Given the description of an element on the screen output the (x, y) to click on. 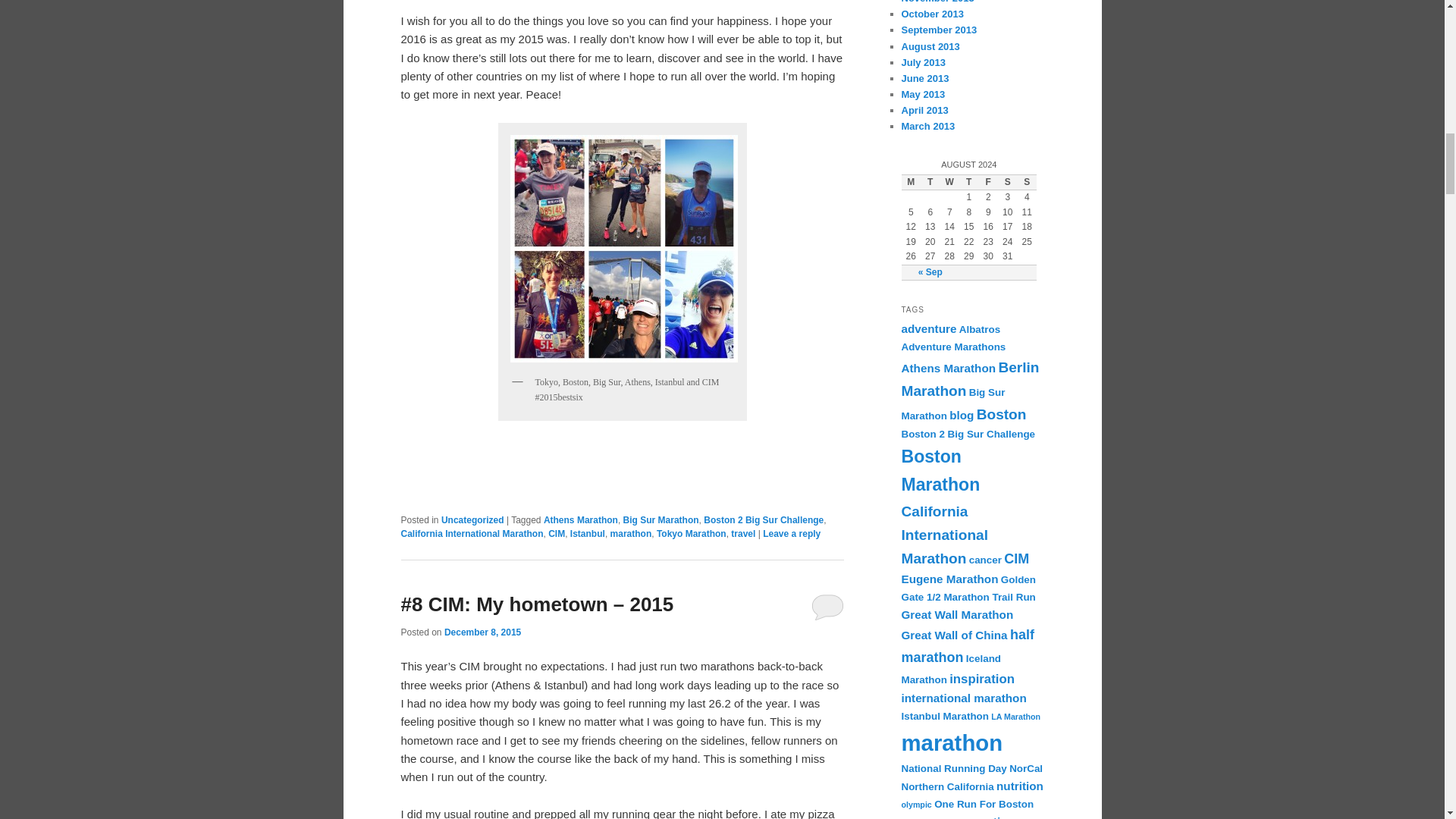
Athens Marathon (580, 520)
Tokyo Marathon (691, 533)
View all posts in Uncategorized (472, 520)
Boston 2 Big Sur Challenge (763, 520)
CIM (556, 533)
Istanbul (587, 533)
Leave a reply (791, 533)
Uncategorized (472, 520)
California International Marathon (471, 533)
Big Sur Marathon (660, 520)
